Given the description of an element on the screen output the (x, y) to click on. 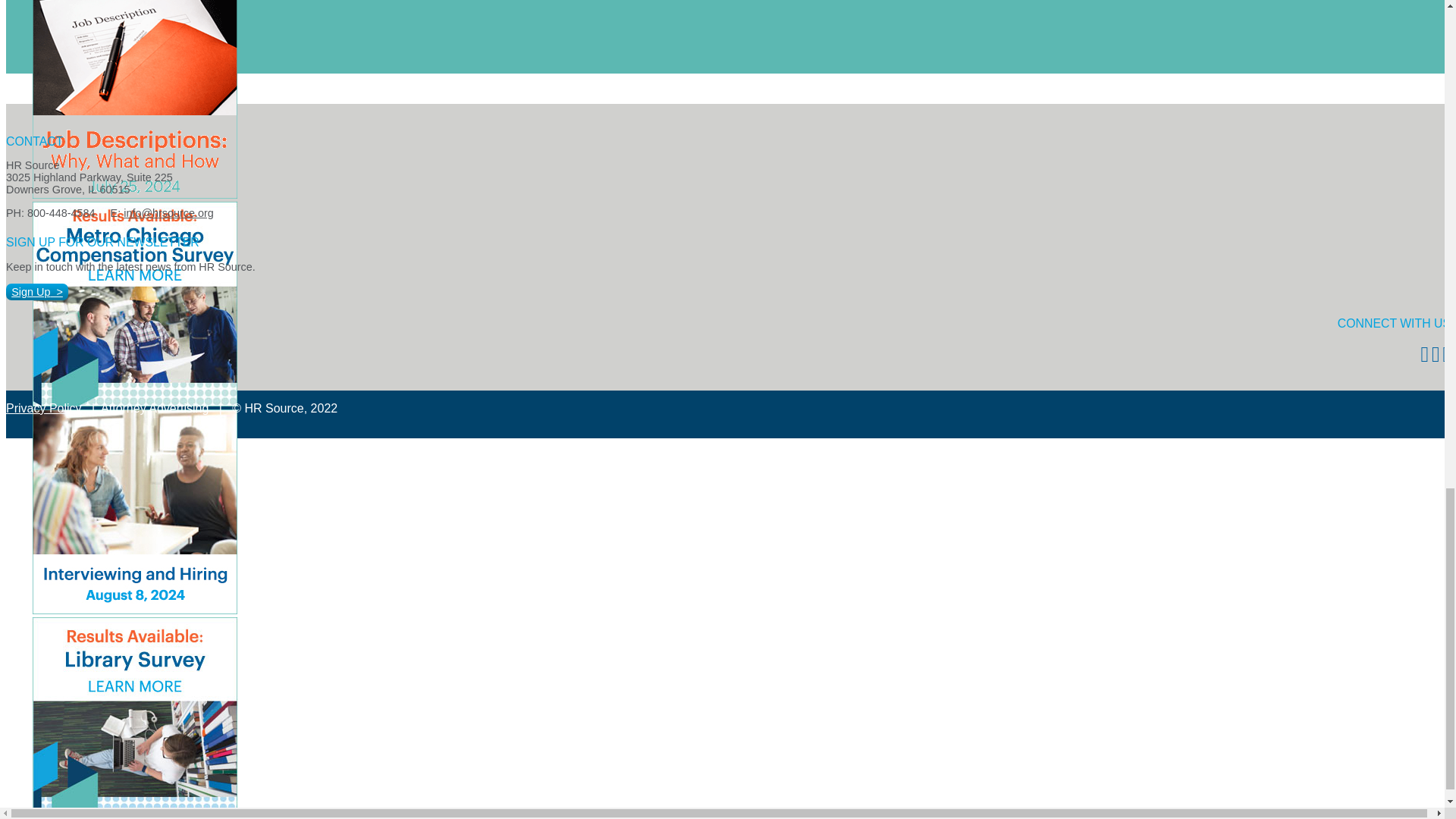
Sign Up (36, 291)
Privacy Policy (43, 408)
